Given the description of an element on the screen output the (x, y) to click on. 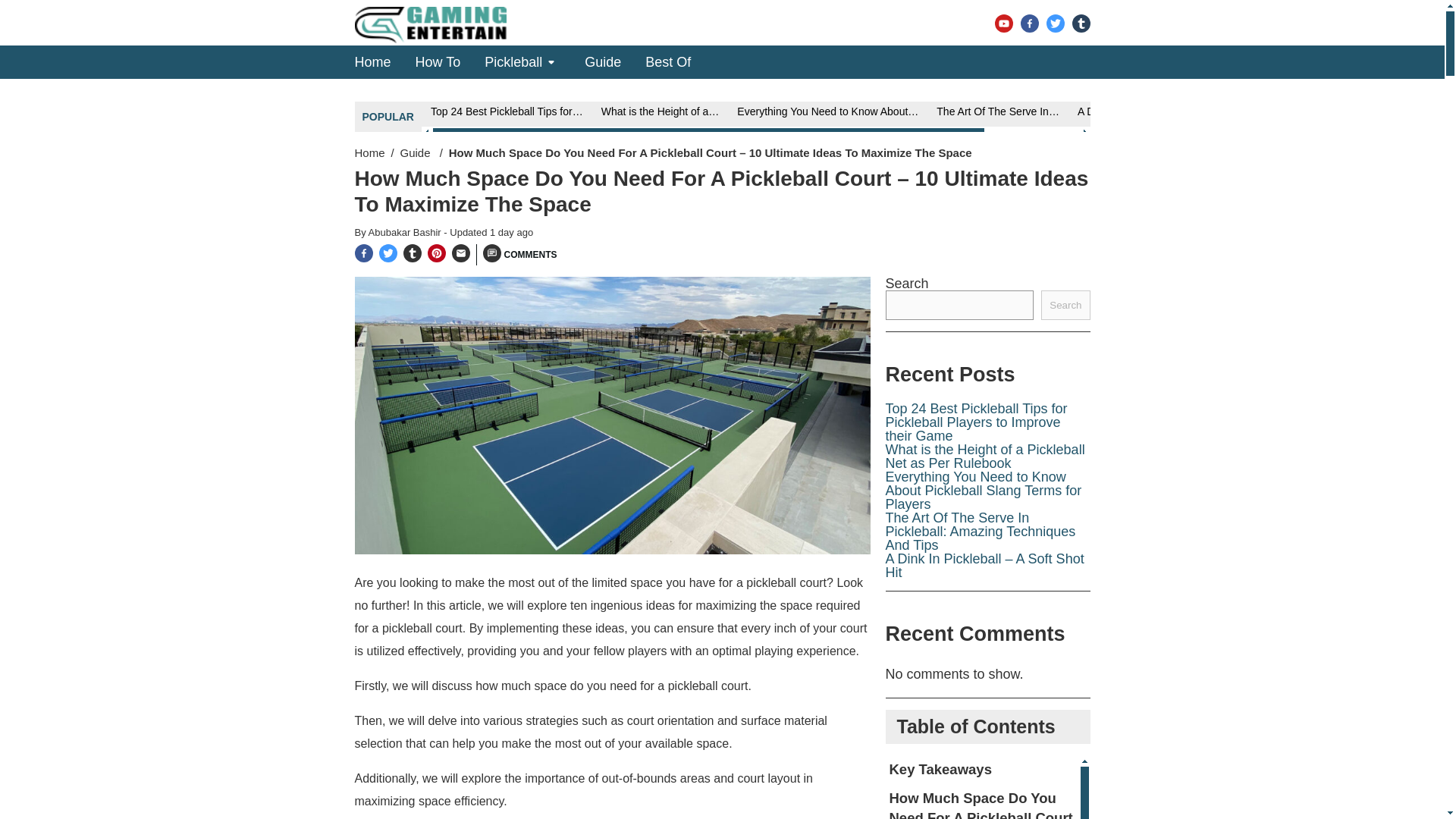
How To (437, 61)
Guide (603, 61)
How Much Space Do You Need For A Pickleball Court (983, 801)
Abubakar Bashir (406, 232)
Key Takeaways (983, 769)
Guide (416, 152)
Home (373, 61)
Best Of (667, 61)
Pickleball (512, 61)
What is the Height of a Pickleball Net as Per Rulebook (984, 456)
COMMENTS (518, 254)
Home (370, 152)
